Given the description of an element on the screen output the (x, y) to click on. 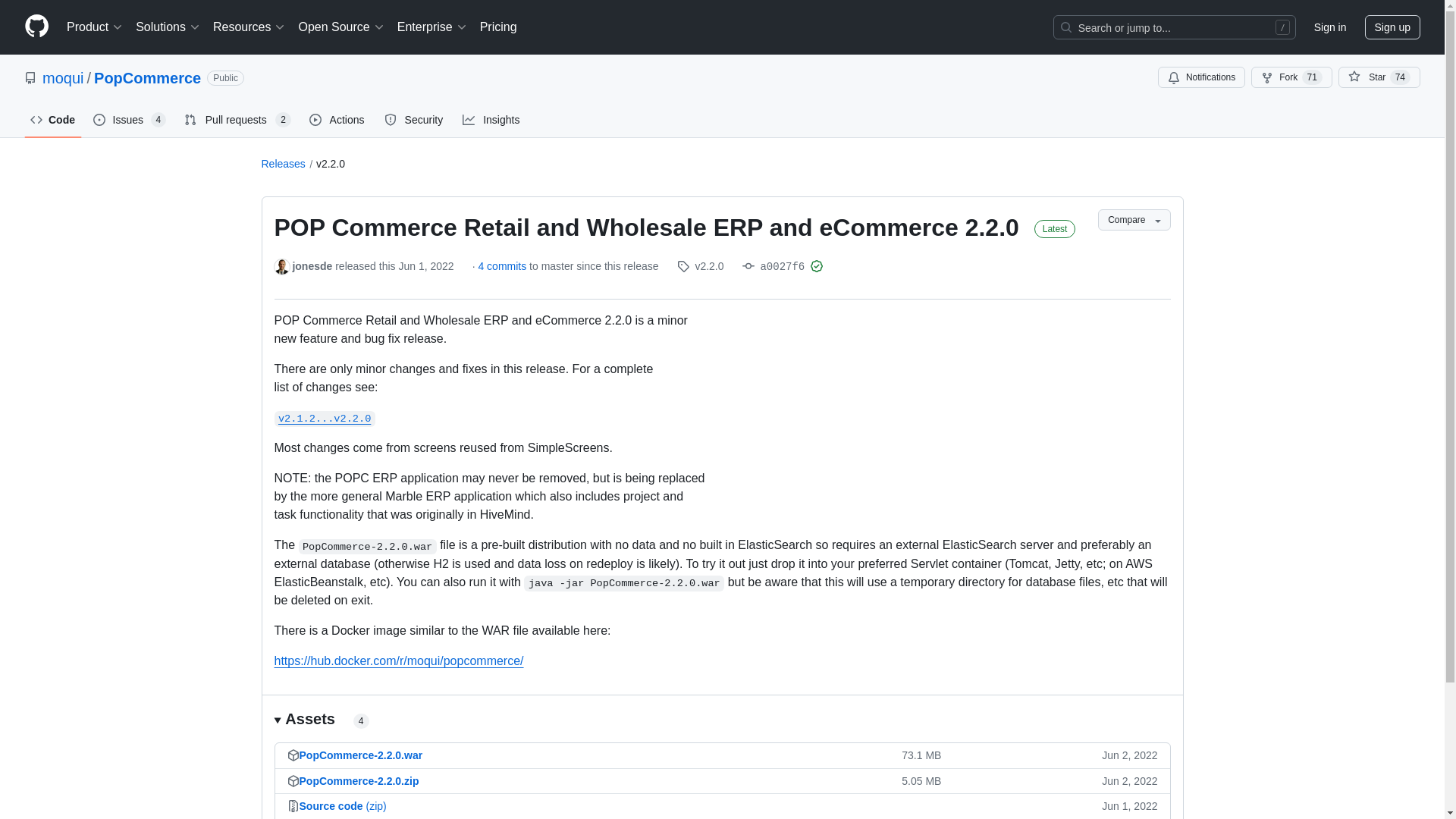
4 (361, 720)
4 (159, 119)
Solutions (167, 27)
71 (1311, 77)
Open Source (341, 27)
Product (95, 27)
2 (283, 119)
74 (1400, 77)
Resources (249, 27)
